Given the description of an element on the screen output the (x, y) to click on. 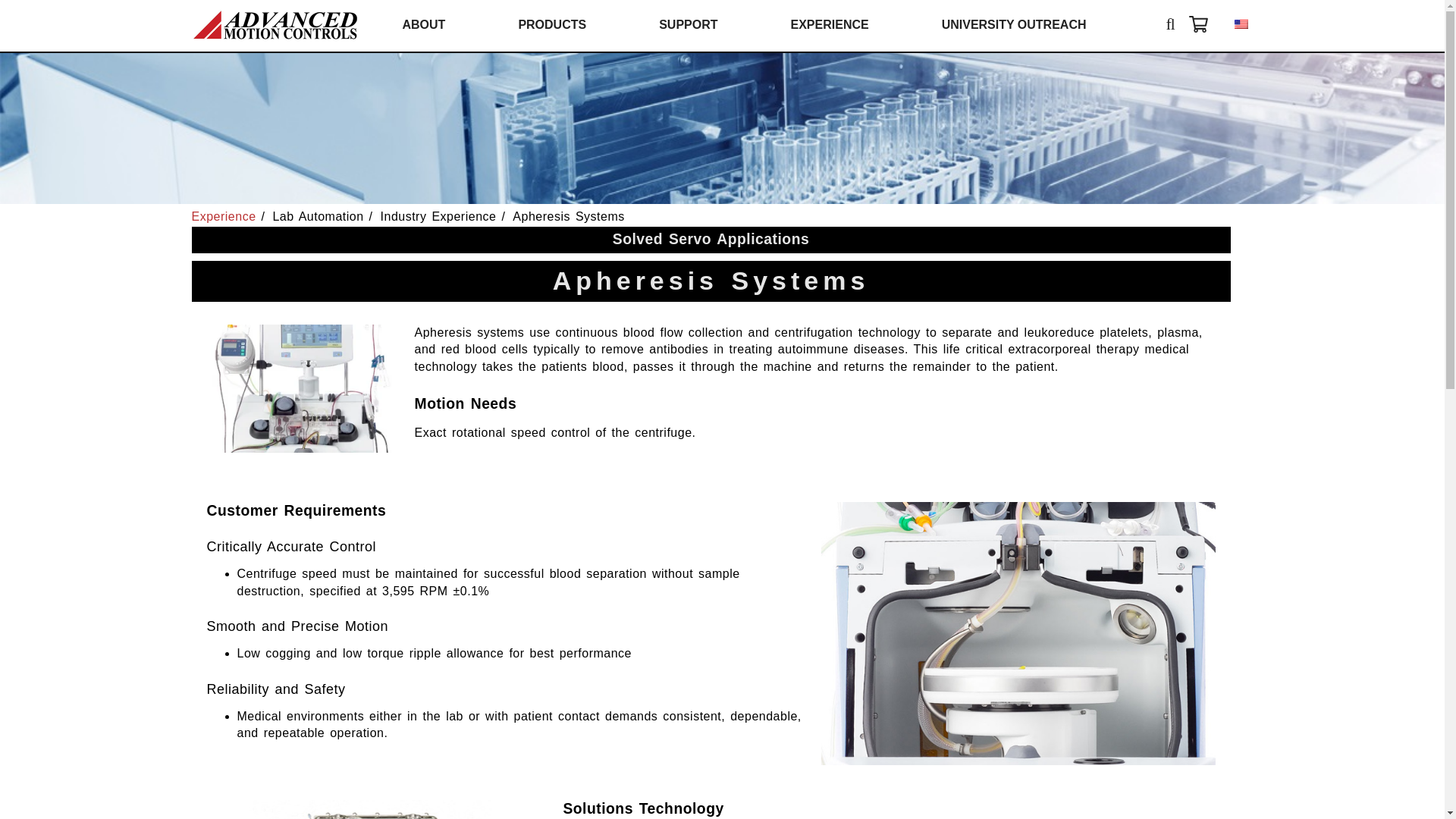
English (1241, 24)
ABOUT (423, 24)
EXPERIENCE (829, 24)
English (1240, 23)
SUPPORT (688, 24)
PRODUCTS (552, 24)
